Given the description of an element on the screen output the (x, y) to click on. 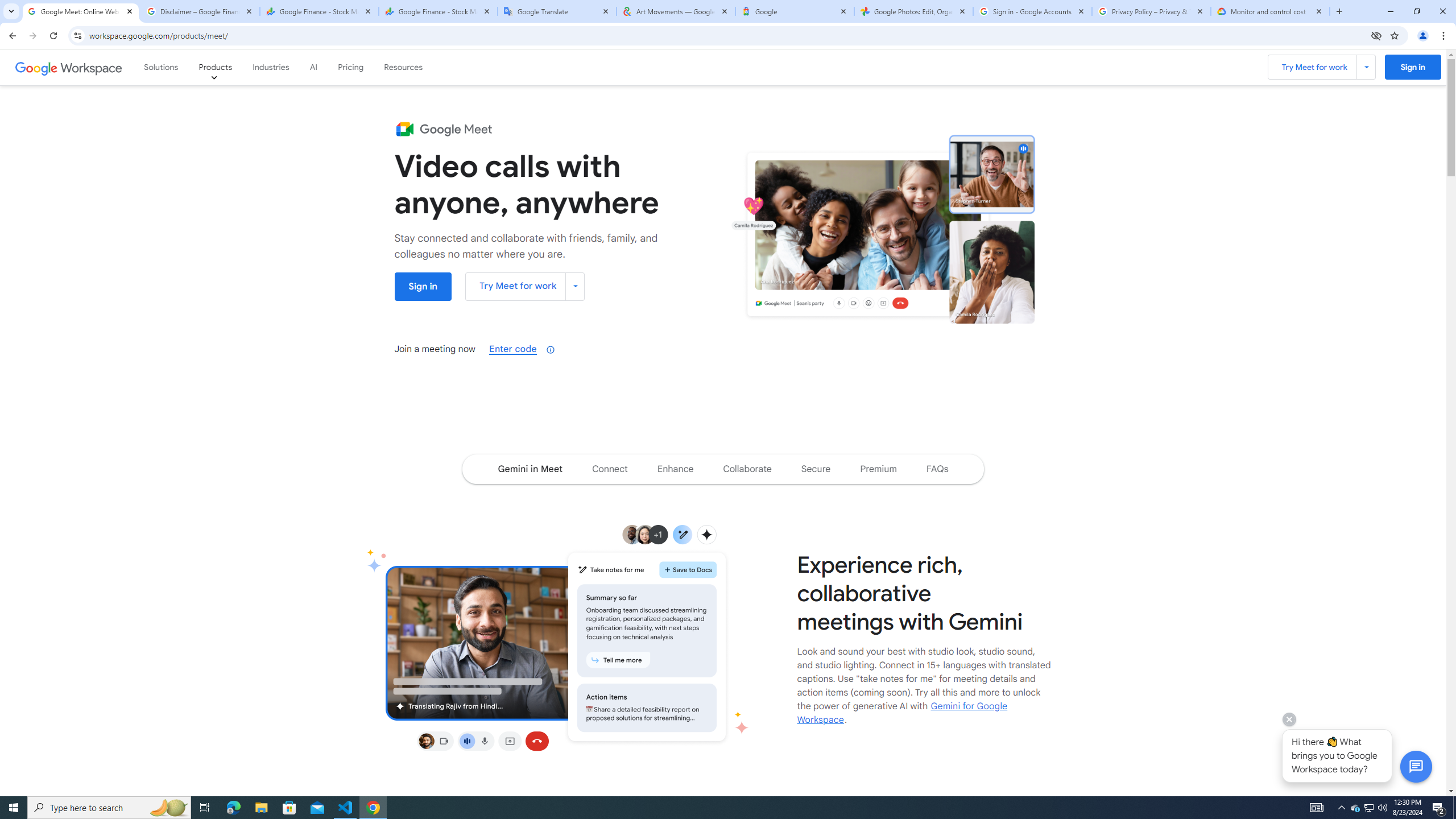
Google (794, 11)
Gemini for Google Workspace (901, 712)
Solutions (161, 67)
Jump to the collaborate section of the page (747, 468)
AI (312, 67)
Pricing (350, 67)
Industries (270, 67)
